Given the description of an element on the screen output the (x, y) to click on. 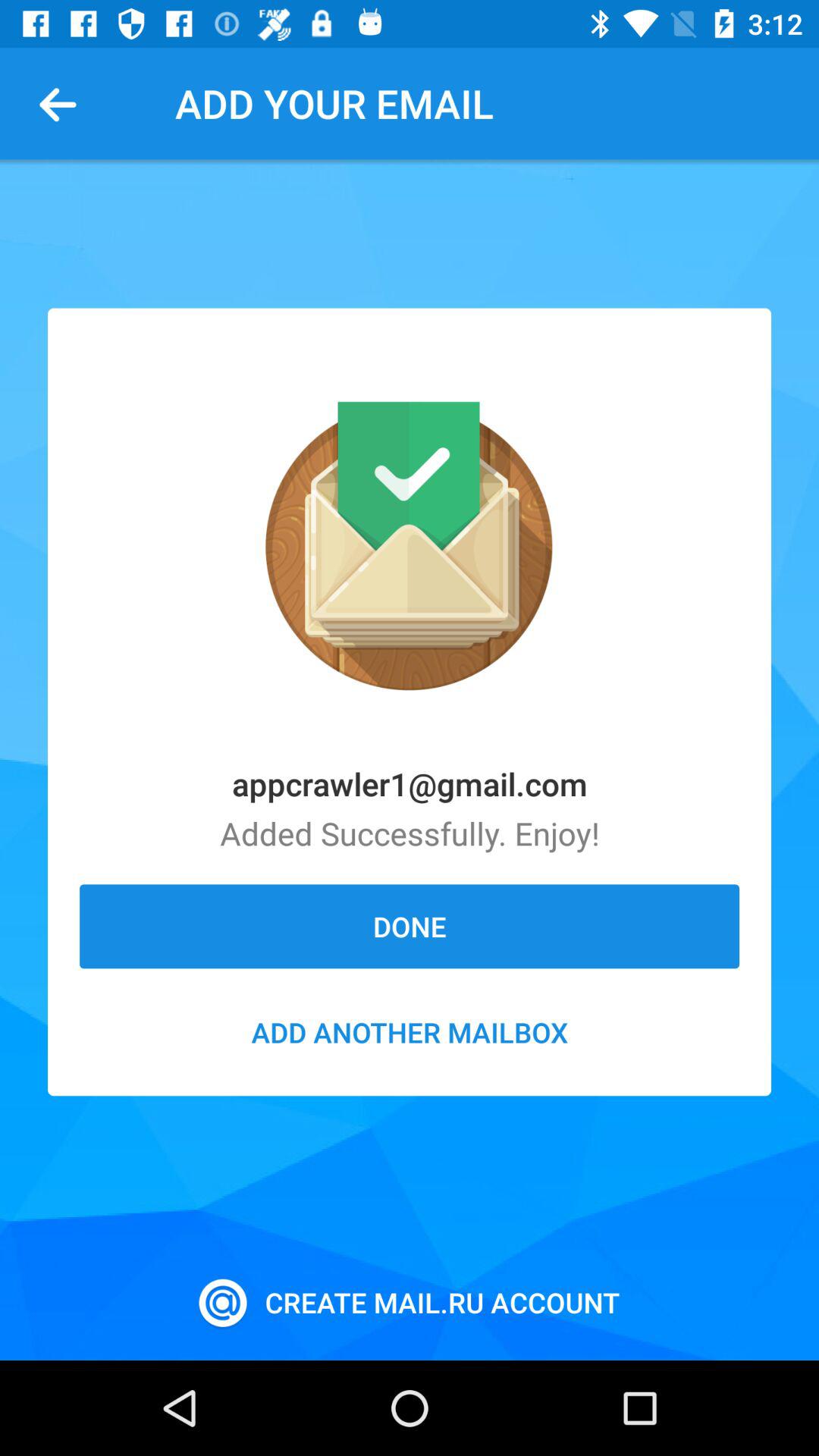
jump to add another mailbox (409, 1032)
